Given the description of an element on the screen output the (x, y) to click on. 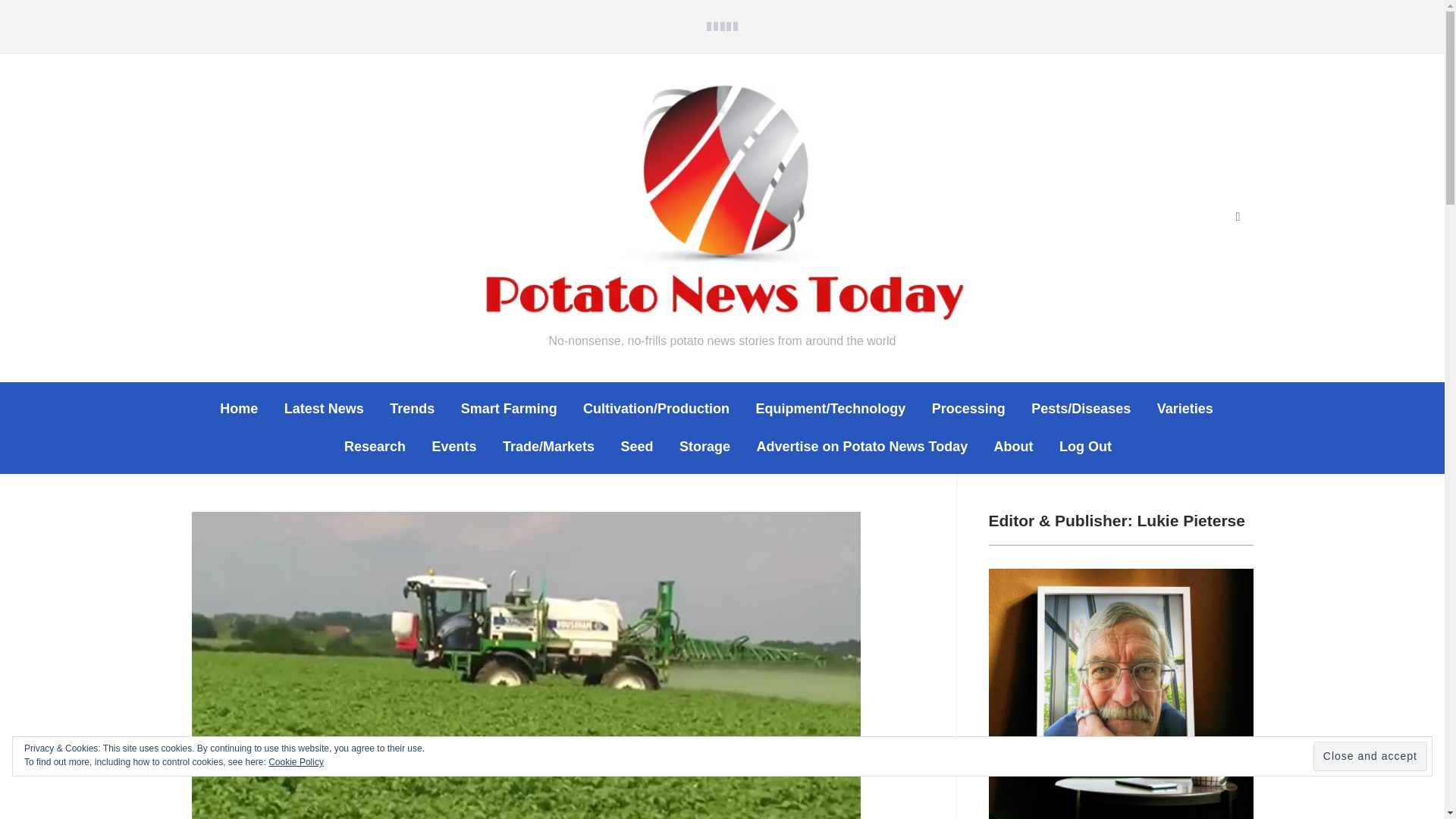
Varieties (1184, 408)
Close and accept (1369, 756)
Trends (411, 408)
Smart Farming (509, 408)
Processing (968, 408)
Home (238, 408)
Latest News (323, 408)
Search (1237, 217)
